Given the description of an element on the screen output the (x, y) to click on. 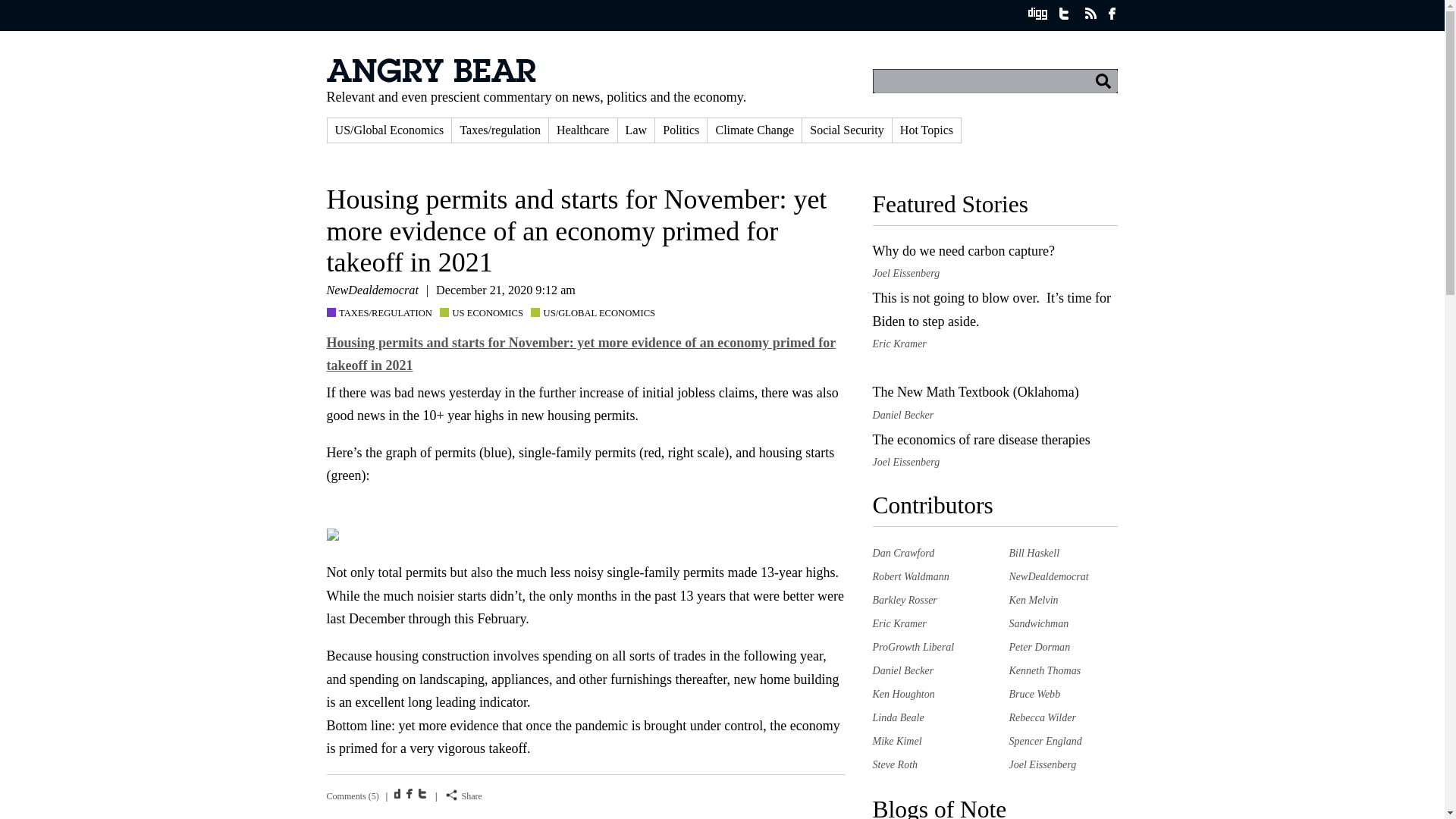
Facebook (411, 793)
Dan Crawford (903, 552)
Law (636, 129)
Robert Waldmann (910, 576)
Ken Houghton (903, 693)
Hot Topics (926, 129)
Why do we need carbon capture? (963, 250)
Barkley Rosser (904, 599)
Healthcare (582, 129)
Social Security (846, 129)
Digg (399, 793)
Climate Change (754, 129)
Daniel Becker (902, 670)
The economics of rare disease therapies (980, 439)
